Given the description of an element on the screen output the (x, y) to click on. 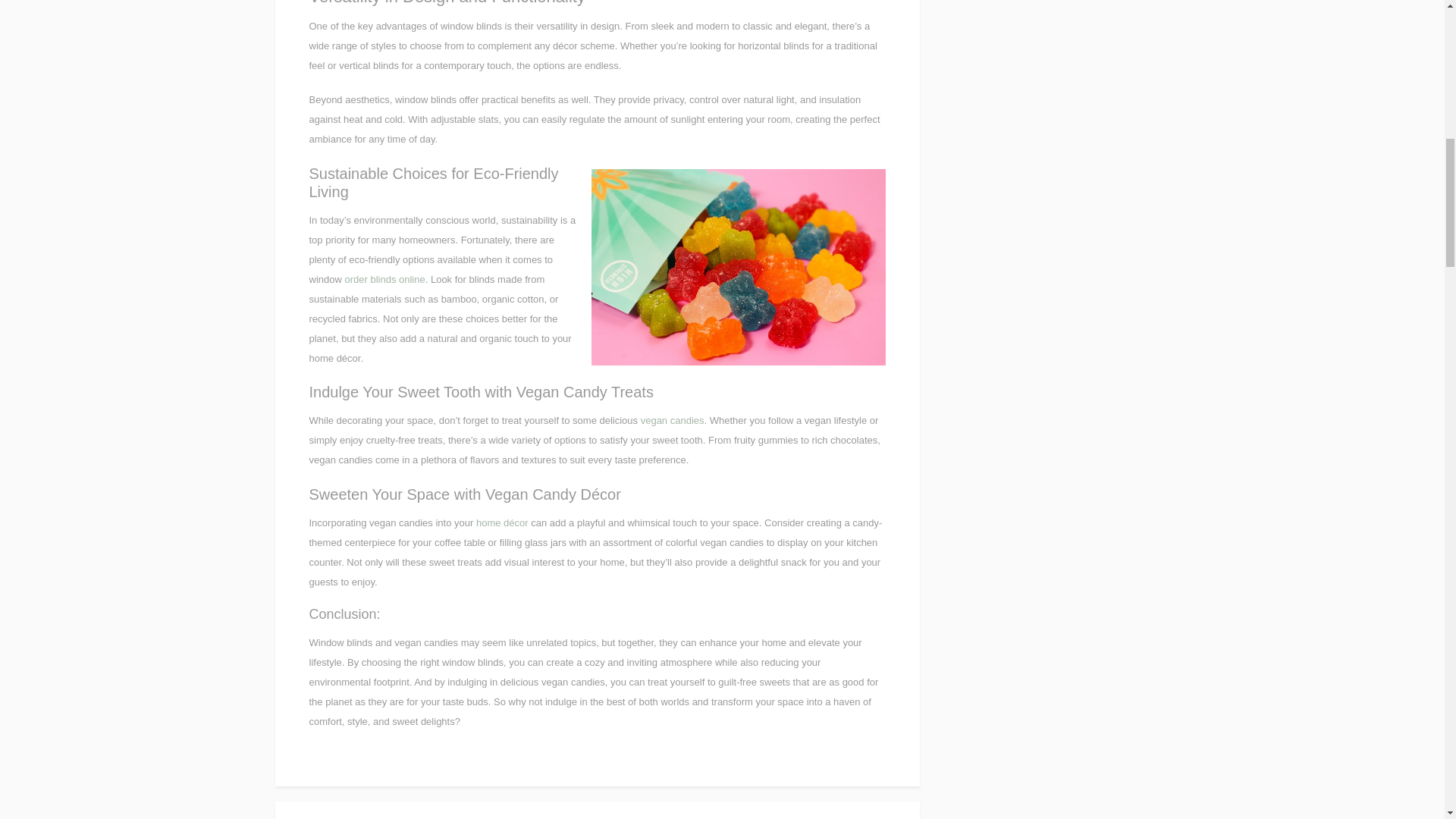
vegan candies (672, 419)
order blinds online (384, 279)
